Given the description of an element on the screen output the (x, y) to click on. 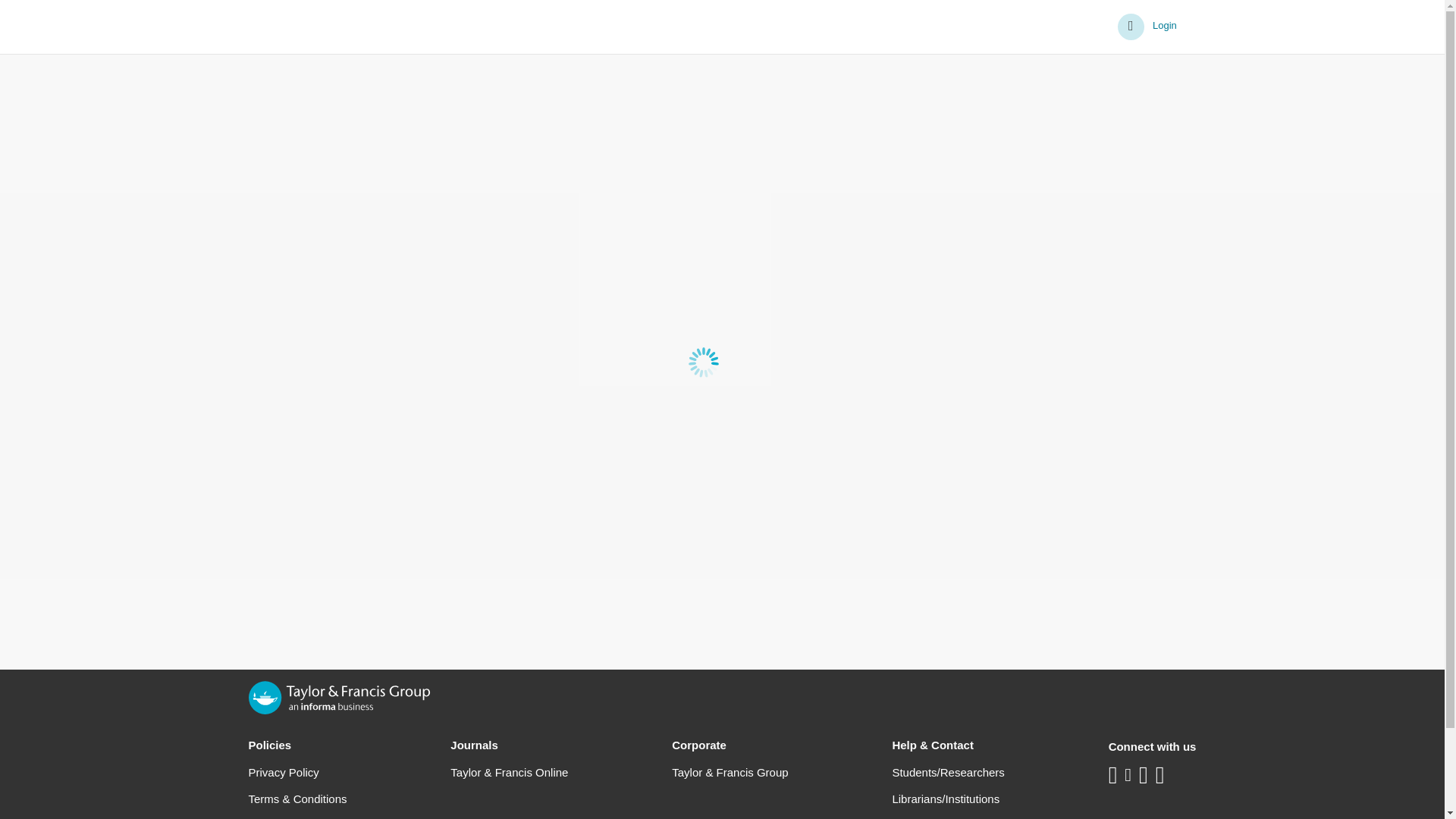
Login (1147, 26)
Privacy Policy (283, 772)
Cookie Policy (282, 818)
